Given the description of an element on the screen output the (x, y) to click on. 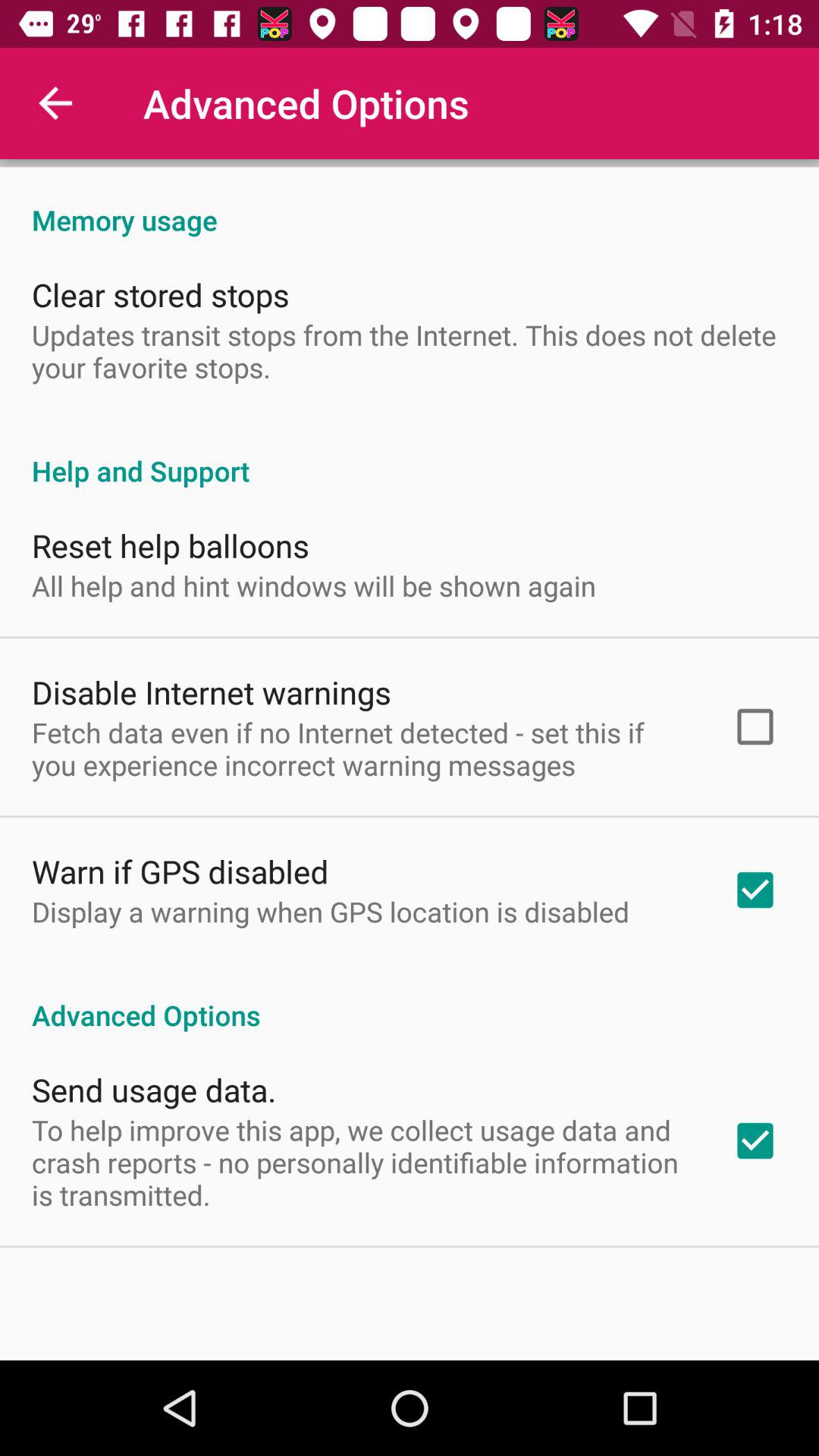
choose item above advanced options icon (330, 911)
